Given the description of an element on the screen output the (x, y) to click on. 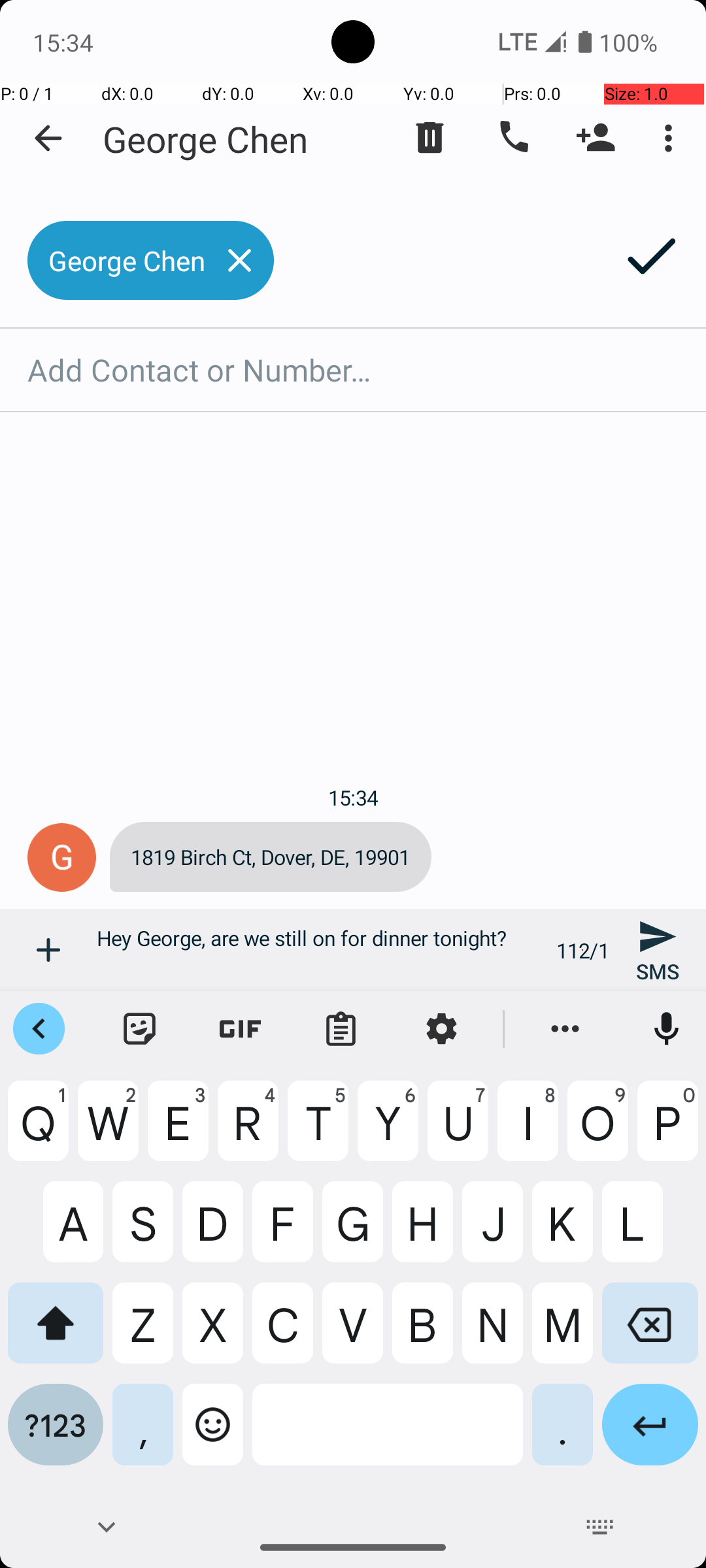
George Chen Element type: android.widget.TextView (205, 138)
Hey George, are we still on for dinner tonight?
 Element type: android.widget.EditText (318, 949)
112/1 Element type: android.widget.TextView (582, 950)
1819 Birch Ct, Dover, DE, 19901 Element type: android.widget.TextView (270, 856)
